Given the description of an element on the screen output the (x, y) to click on. 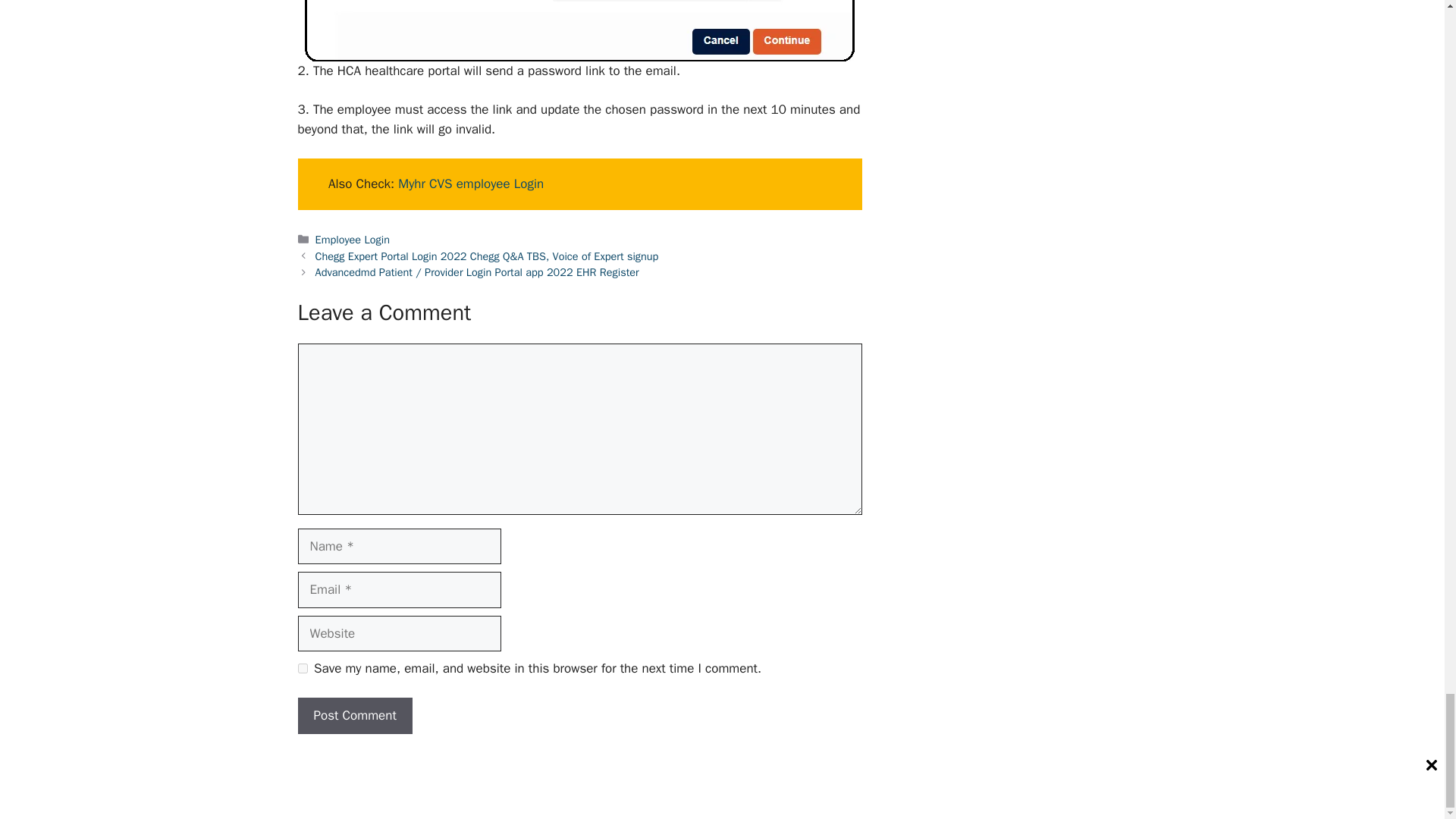
Myhr CVS employee Login (470, 183)
yes (302, 668)
Employee Login (352, 239)
Post Comment (354, 715)
Post Comment (354, 715)
